Given the description of an element on the screen output the (x, y) to click on. 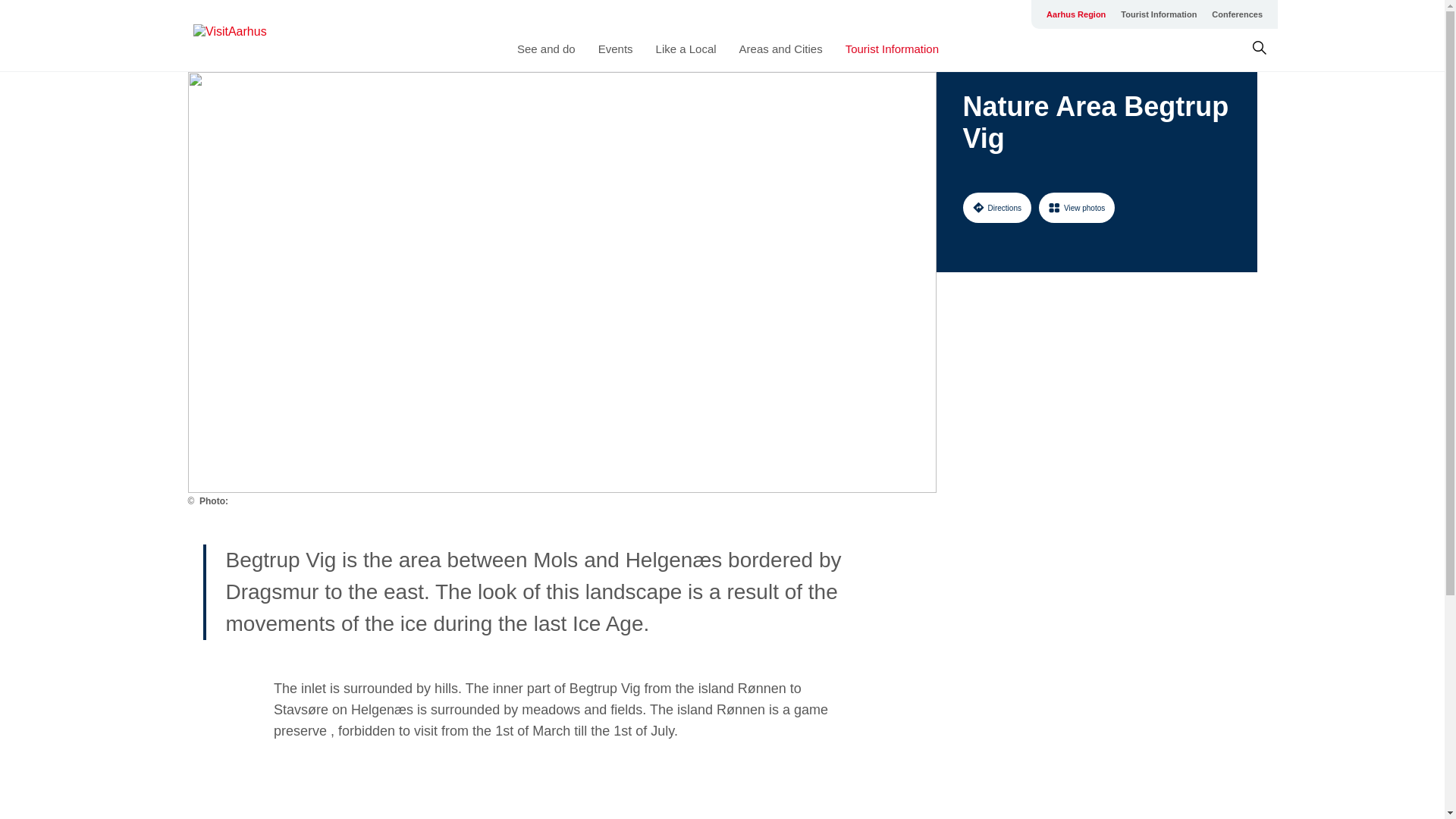
Aarhus Region (1076, 14)
Like a Local (686, 48)
View photos (1077, 207)
See and do (545, 48)
Conferences (1236, 14)
Areas and Cities (780, 48)
Events (615, 48)
Directions (996, 207)
Tourist Information (1158, 14)
Go to homepage (253, 35)
